Given the description of an element on the screen output the (x, y) to click on. 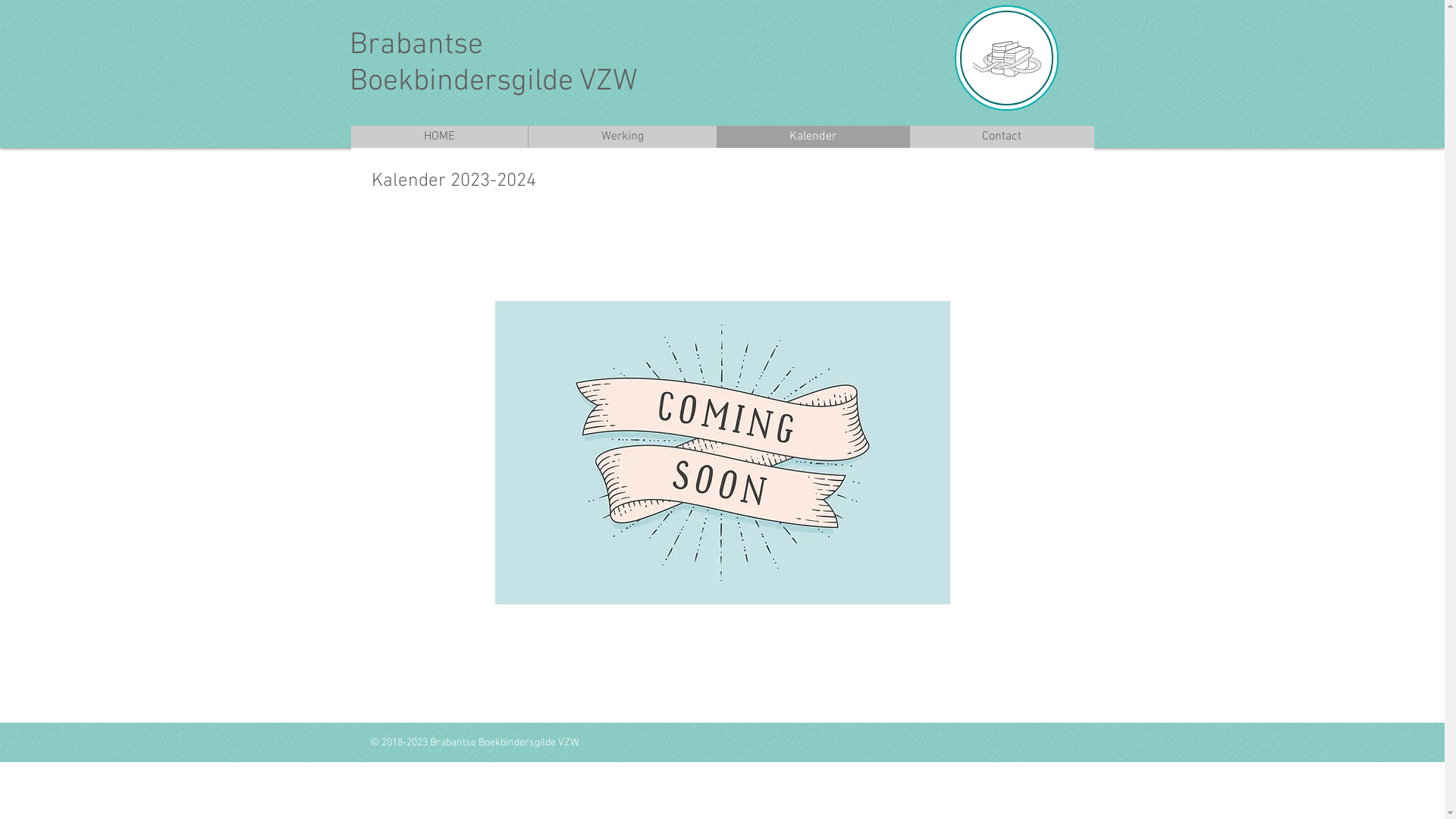
HOME Element type: text (438, 136)
Coming Soon Element type: hover (721, 452)
Kalender Element type: text (811, 136)
Werking Element type: text (621, 136)
Brabantse Element type: text (415, 45)
Contact Element type: text (1000, 136)
